Given the description of an element on the screen output the (x, y) to click on. 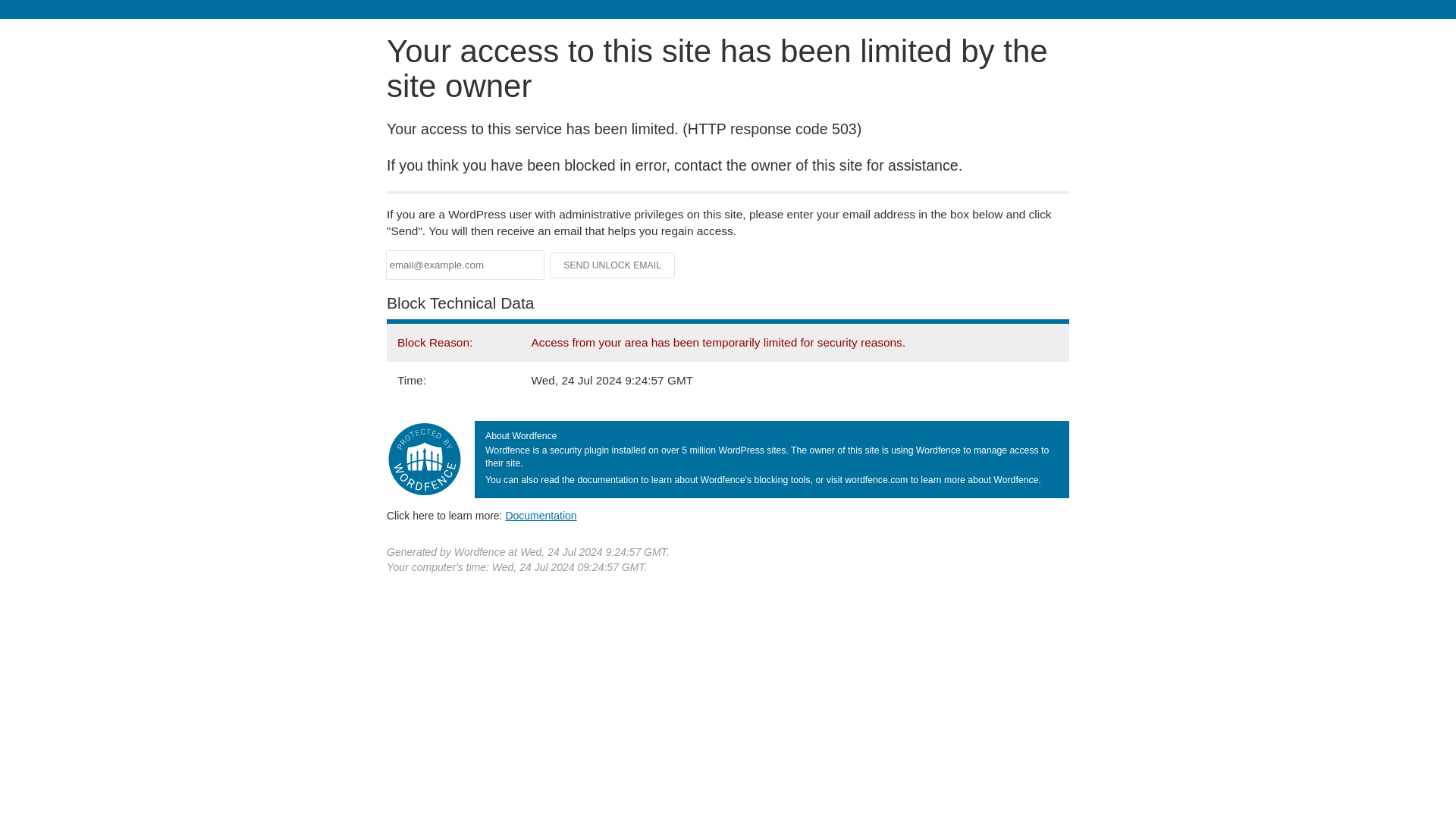
Send Unlock Email (612, 265)
Documentation (540, 515)
Send Unlock Email (612, 265)
